Given the description of an element on the screen output the (x, y) to click on. 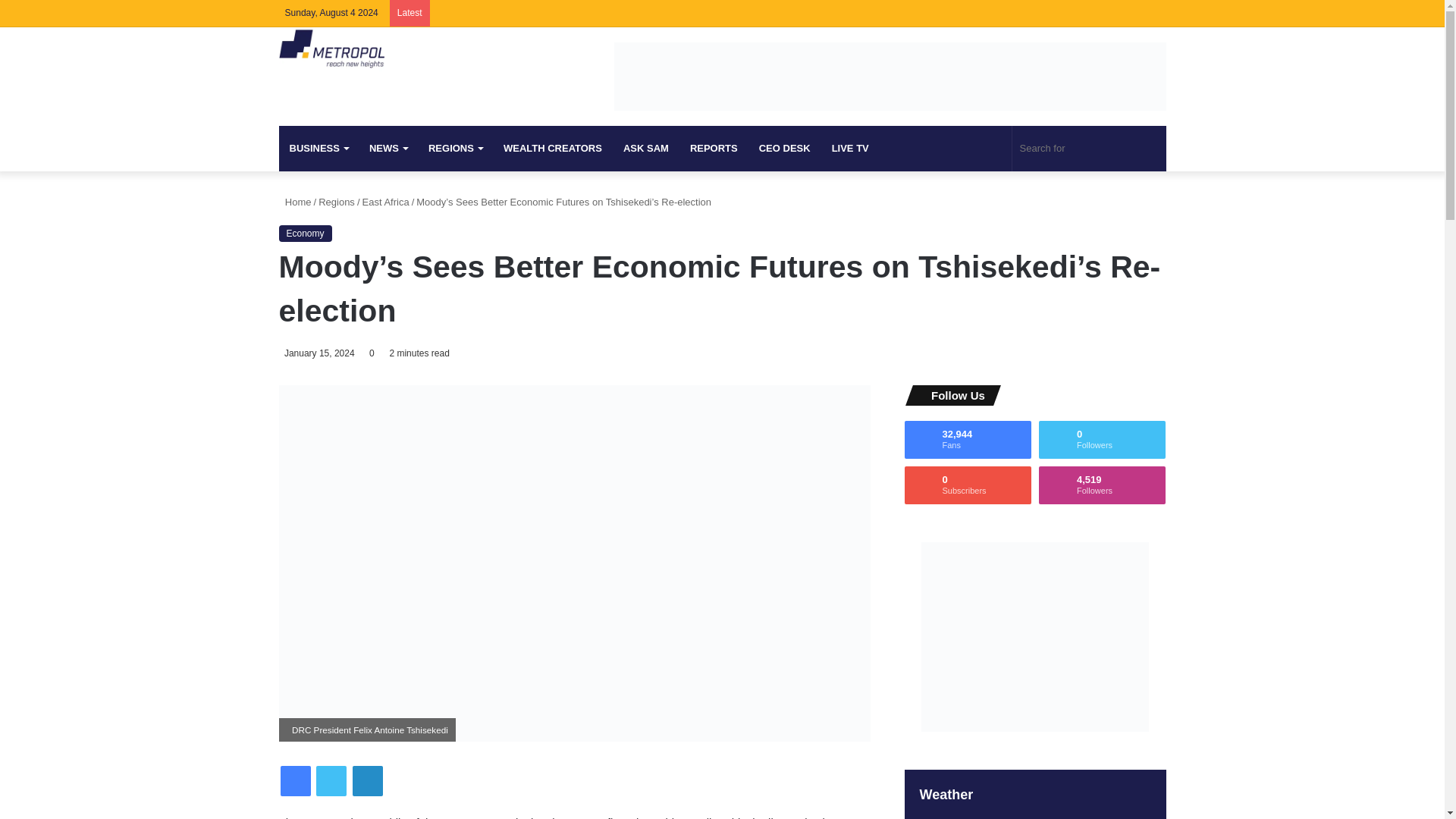
Instagram (1154, 13)
Twitter (330, 780)
REPORTS (713, 148)
BUSINESS (318, 148)
WEALTH CREATORS (552, 148)
Search for (1088, 148)
Metropol Digital (331, 49)
ASK SAM (645, 148)
REGIONS (455, 148)
LinkedIn (367, 780)
CEO DESK (784, 148)
Facebook (1086, 13)
LIVE TV (850, 148)
LinkedIn (1131, 13)
Facebook (296, 780)
